Given the description of an element on the screen output the (x, y) to click on. 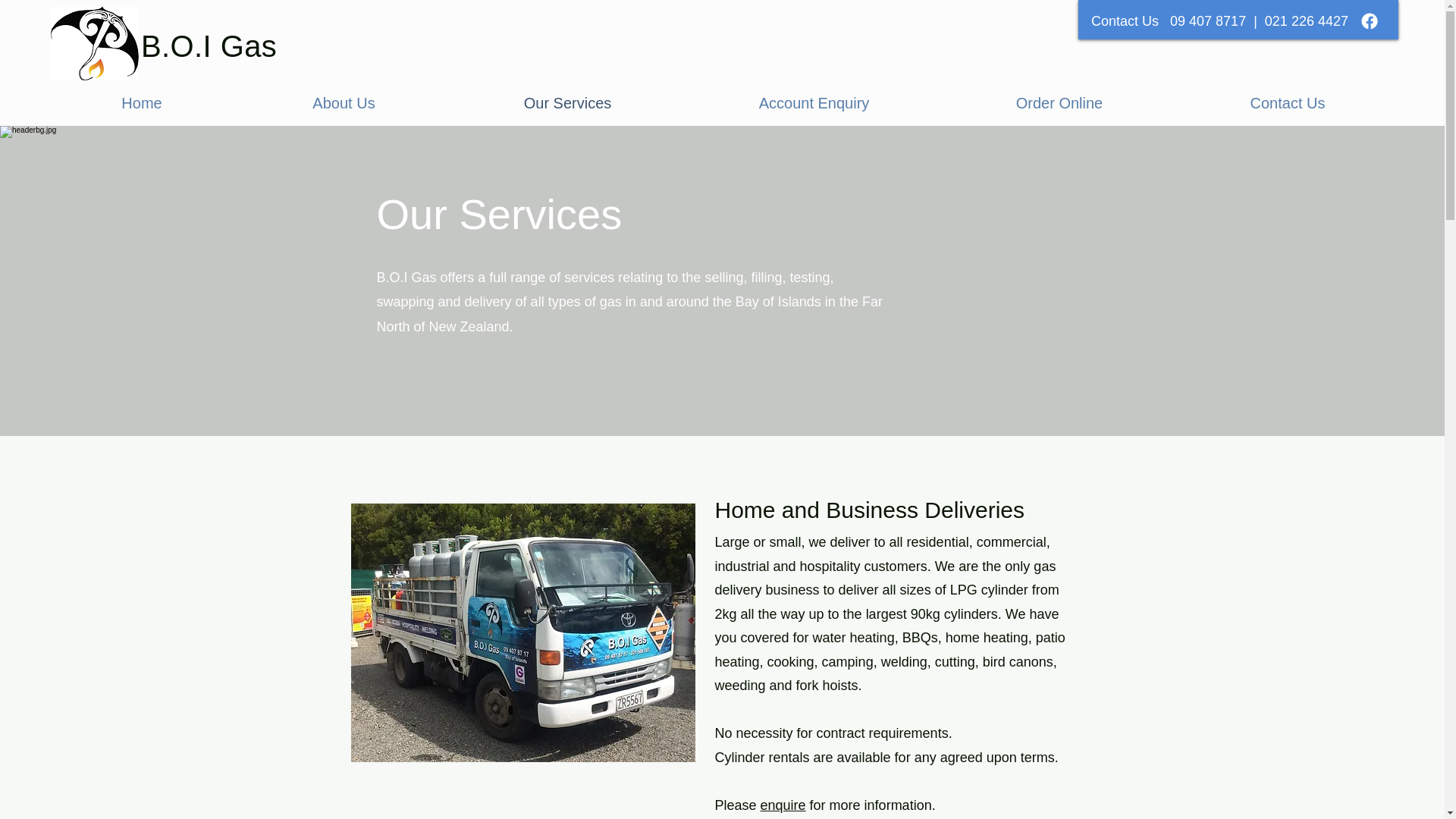
Home (141, 103)
Our Services (567, 103)
Contact Us (1287, 103)
Account Enquiry (813, 103)
Order Online (1059, 103)
About Us (343, 103)
enquire (783, 805)
09 407 8717 (1208, 20)
021 226 4427 (1306, 20)
